Given the description of an element on the screen output the (x, y) to click on. 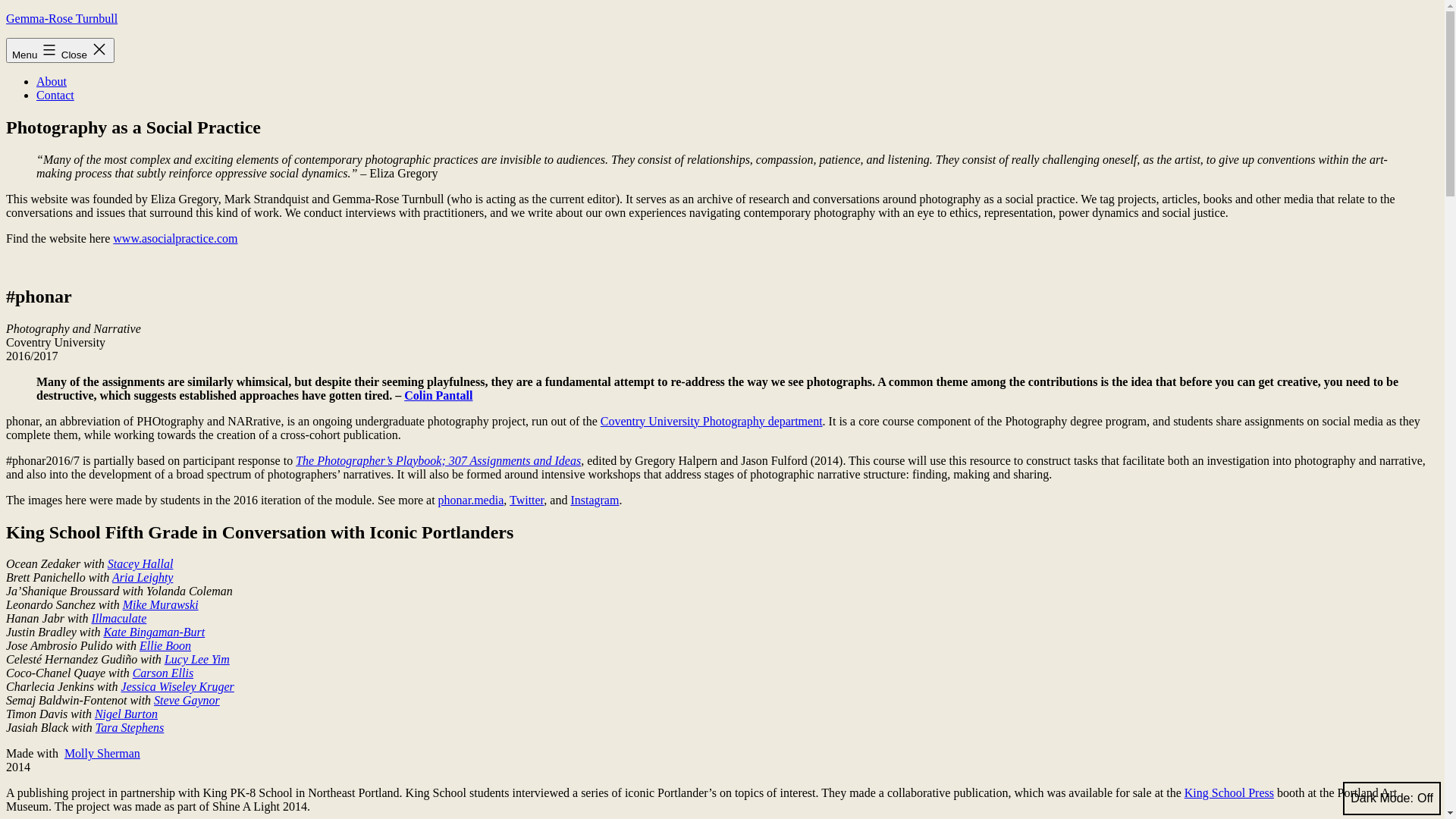
Ellie Boon Element type: text (165, 645)
About Element type: text (51, 81)
Lucy Lee Yim Element type: text (196, 658)
Coventry University Photography department Element type: text (711, 420)
Mike Murawski Element type: text (160, 604)
Molly Sherman Element type: text (102, 752)
Contact Element type: text (55, 94)
King School Press Element type: text (1229, 792)
Jessica Wiseley Kruger Element type: text (177, 686)
Twitter Element type: text (526, 499)
phonar.media Element type: text (471, 499)
Gemma-Rose Turnbull Element type: text (61, 18)
Colin Pantall Element type: text (438, 395)
Tara Stephens Element type: text (129, 727)
Nigel Burton Element type: text (125, 713)
Illmaculate Element type: text (118, 617)
Steve Gaynor Element type: text (186, 699)
Aria Leighty Element type: text (142, 577)
Menu Close Element type: text (60, 49)
www.asocialpractice.com Element type: text (174, 238)
Skip to content Element type: text (5, 11)
Kate Bingaman-Burt Element type: text (153, 631)
Instagram Element type: text (594, 499)
Dark Mode: Element type: text (1391, 798)
Stacey Hallal Element type: text (140, 563)
Carson Ellis Element type: text (162, 672)
